Given the description of an element on the screen output the (x, y) to click on. 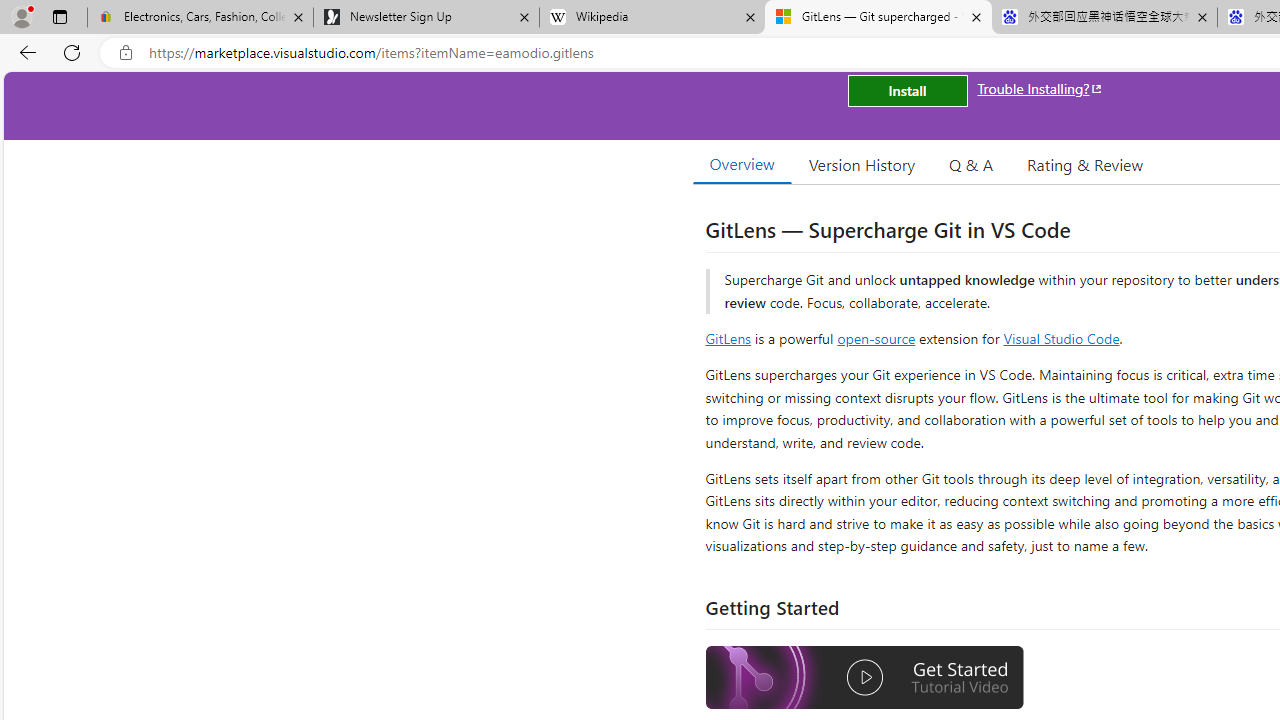
Version History (862, 164)
Watch the GitLens Getting Started video (865, 679)
Overview (742, 164)
Visual Studio Code (1061, 337)
open-source (876, 337)
Wikipedia (652, 17)
Q & A (971, 164)
Electronics, Cars, Fashion, Collectibles & More | eBay (200, 17)
GitLens (728, 337)
